Given the description of an element on the screen output the (x, y) to click on. 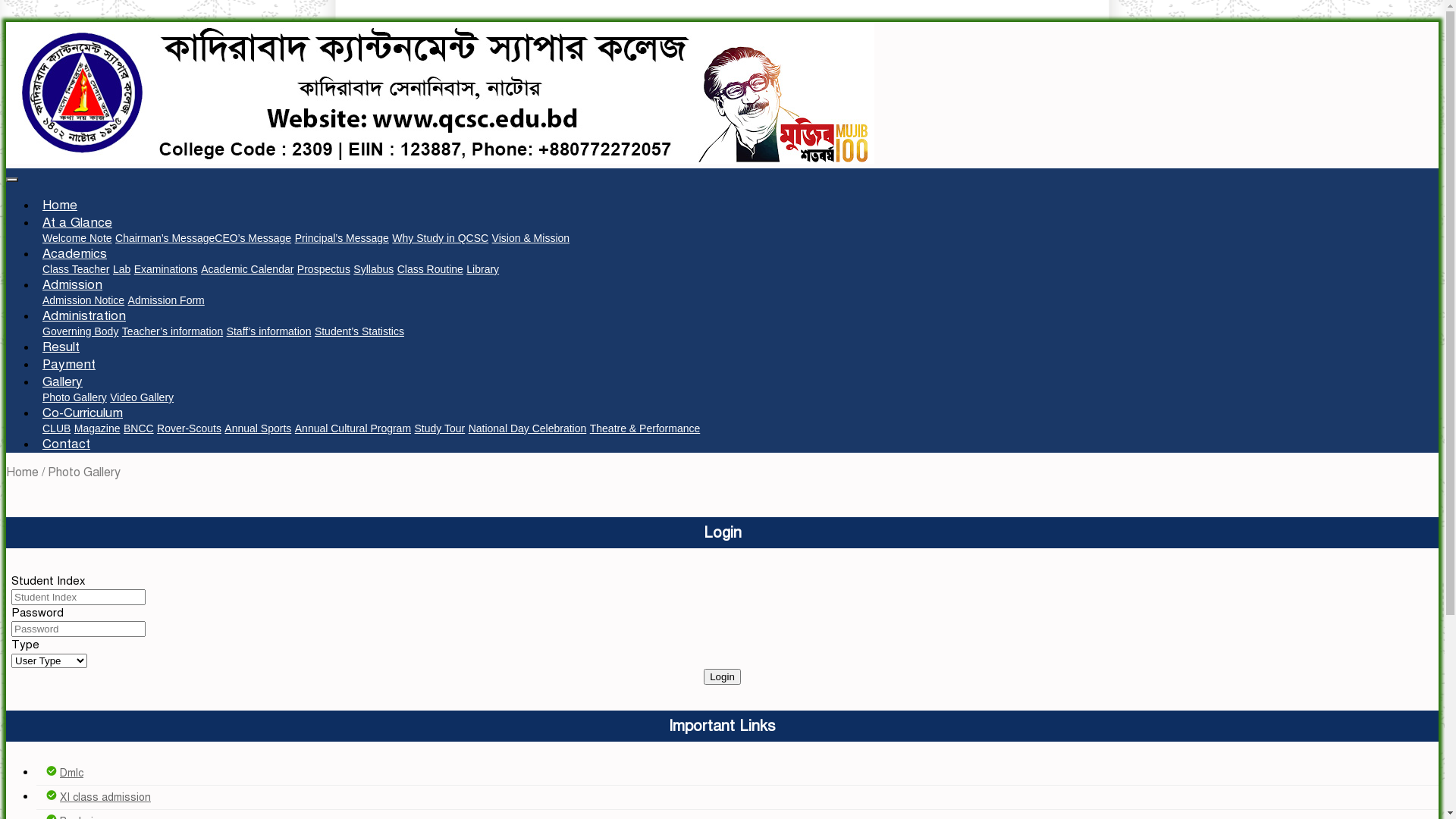
Welcome Note Element type: text (77, 238)
Admission Notice Element type: text (83, 300)
Photo Gallery Element type: text (74, 397)
Class Teacher Element type: text (75, 269)
Video Gallery Element type: text (141, 397)
Annual Sports Element type: text (257, 428)
Theatre & Performance Element type: text (644, 428)
XI class admission Element type: text (104, 796)
BNCC Element type: text (138, 428)
CLUB Element type: text (56, 428)
Gallery Element type: text (62, 381)
Vision & Mission Element type: text (530, 238)
Syllabus Element type: text (373, 269)
Magazine Element type: text (97, 428)
Payment Element type: text (68, 364)
Lab Element type: text (121, 269)
National Day Celebration Element type: text (527, 428)
Examinations Element type: text (165, 269)
Dmlc Element type: text (71, 772)
Library Element type: text (482, 269)
Academics Element type: text (74, 253)
Annual Cultural Program Element type: text (352, 428)
Administration Element type: text (83, 315)
Login Element type: text (721, 676)
Result Element type: text (60, 346)
Study Tour Element type: text (439, 428)
Admission Form Element type: text (166, 300)
Class Routine Element type: text (430, 269)
At a Glance Element type: text (77, 222)
Academic Calendar Element type: text (246, 269)
Governing Body Element type: text (80, 331)
Admission Element type: text (72, 284)
Contact Element type: text (66, 443)
Co-Curriculum Element type: text (82, 412)
Why Study in QCSC Element type: text (440, 238)
Home
(current) Element type: text (59, 205)
Rover-Scouts Element type: text (188, 428)
Prospectus Element type: text (323, 269)
